Given the description of an element on the screen output the (x, y) to click on. 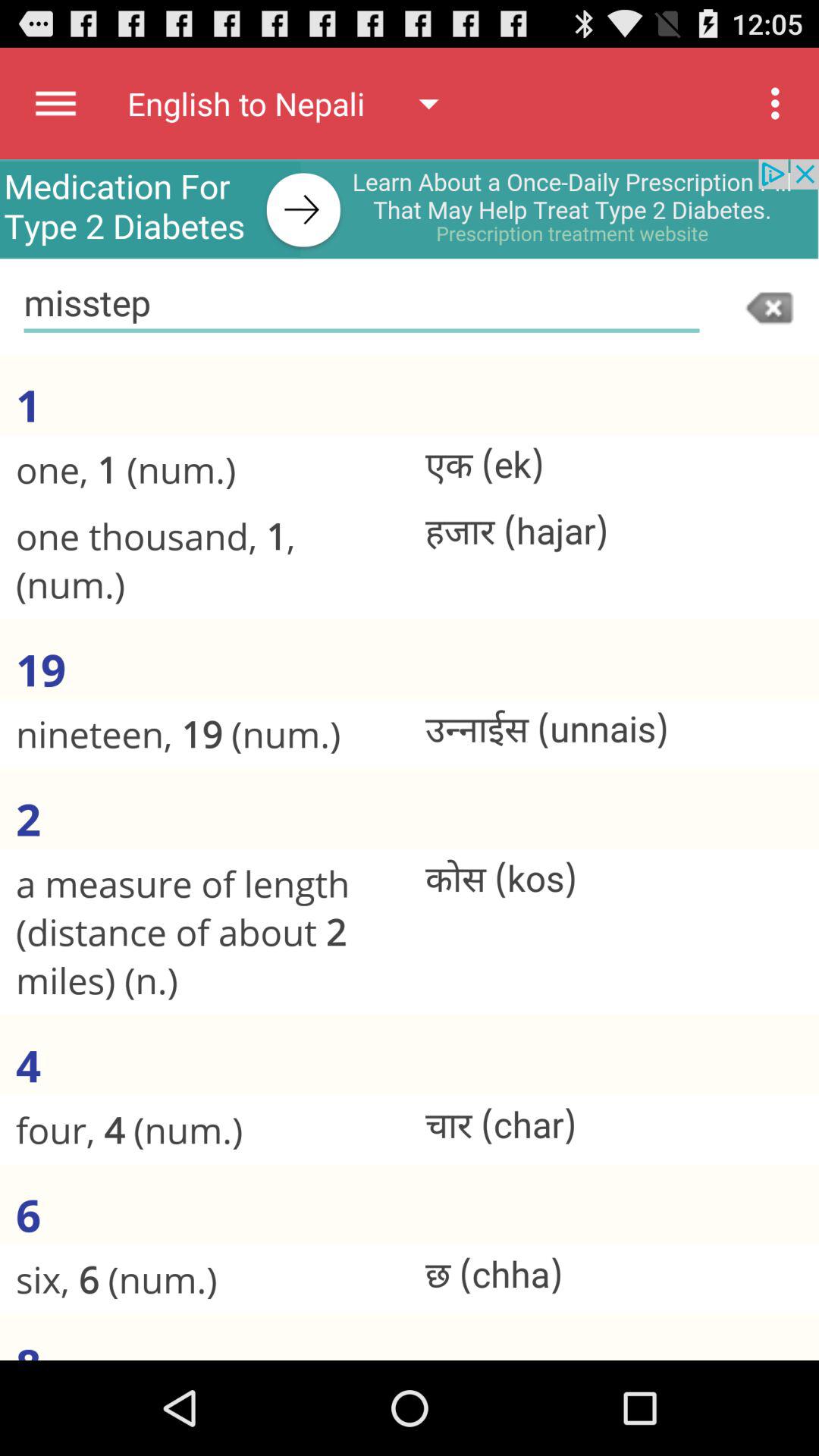
clear input (771, 306)
